Given the description of an element on the screen output the (x, y) to click on. 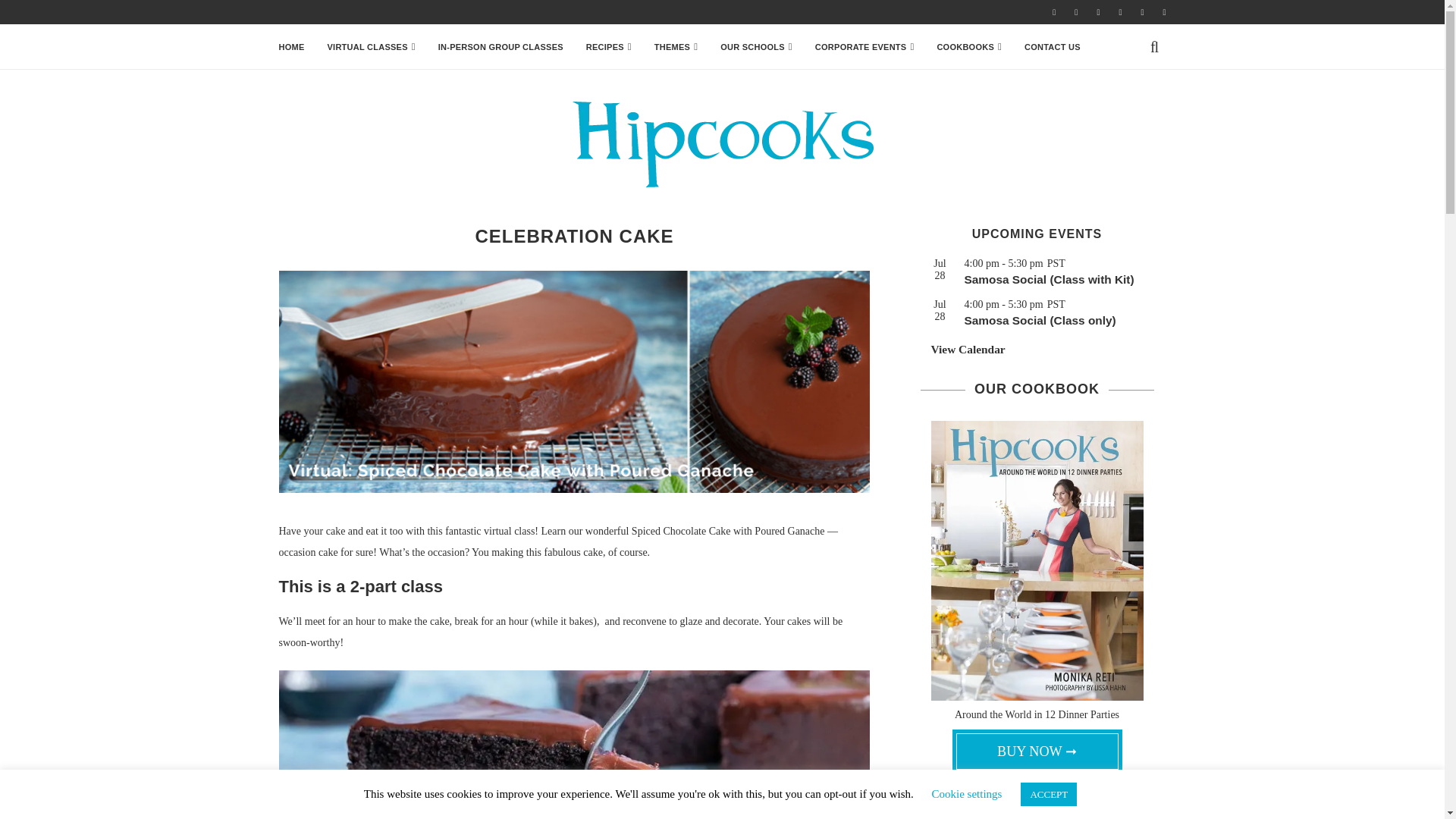
Spiced Chocolate Cake with Poured Ganache (574, 744)
Spiced Chocolate Cake with Poured Ganache (574, 382)
